Given the description of an element on the screen output the (x, y) to click on. 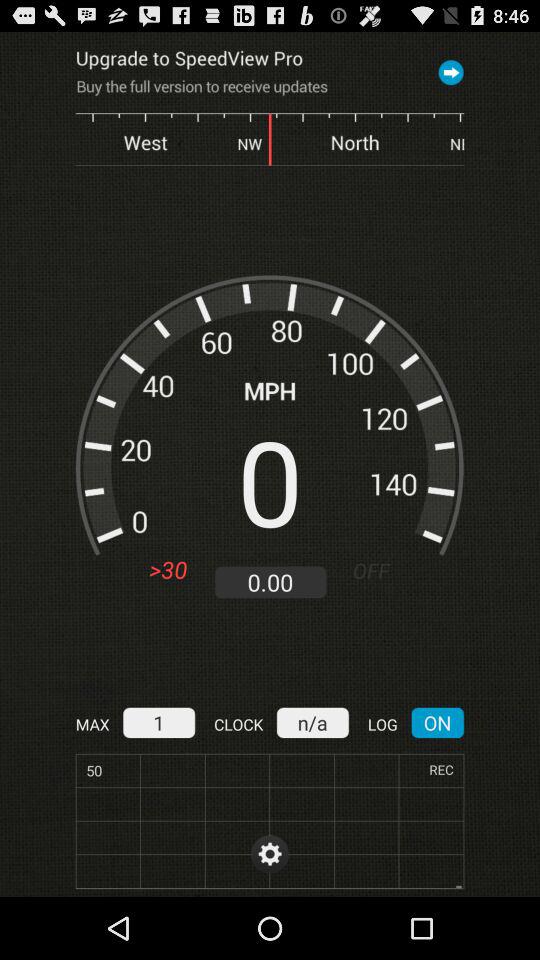
tap the icon to the right of 0.00 app (378, 570)
